Given the description of an element on the screen output the (x, y) to click on. 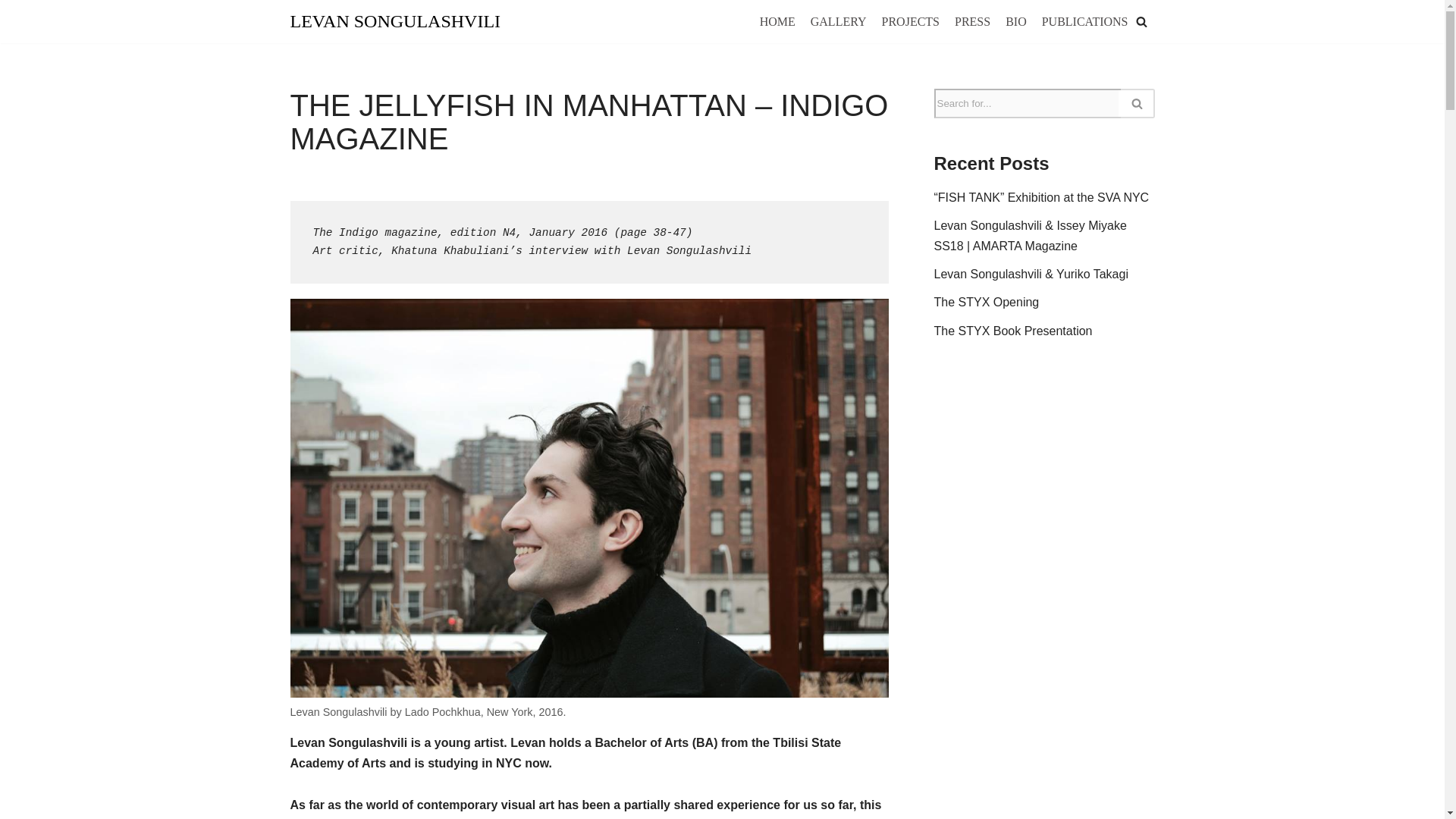
Skip to content (11, 31)
HOME (777, 21)
PROJECTS (910, 21)
PRESS (972, 21)
PUBLICATIONS (1085, 21)
The STYX Opening (986, 301)
GALLERY (838, 21)
BIO (1016, 21)
LEVAN SONGULASHVILI (394, 20)
The STYX Book Presentation (1013, 330)
